Given the description of an element on the screen output the (x, y) to click on. 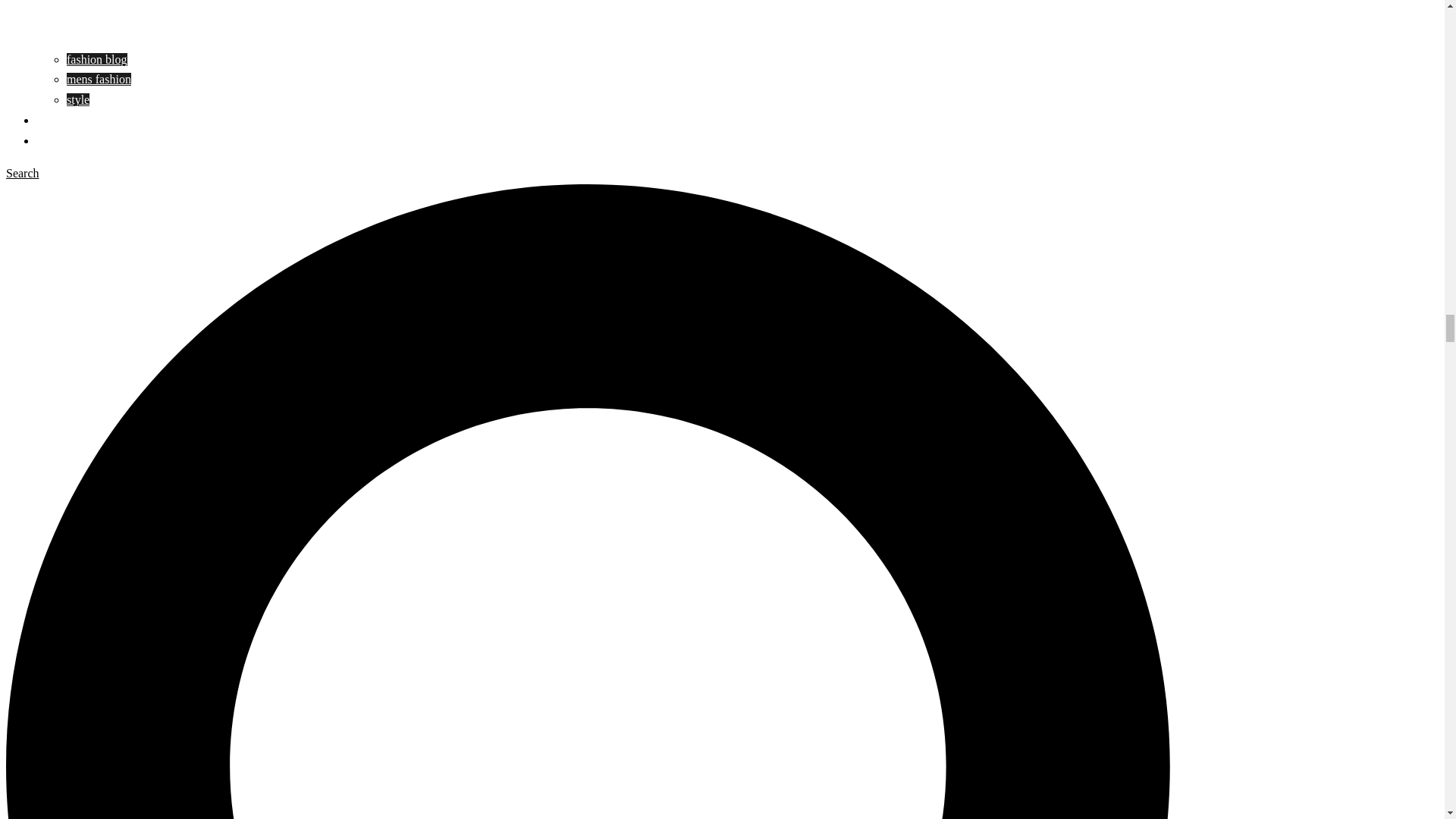
mens fashion (98, 78)
style (77, 99)
General Article (73, 119)
Contact Us (63, 140)
fashion blog (97, 59)
